Given the description of an element on the screen output the (x, y) to click on. 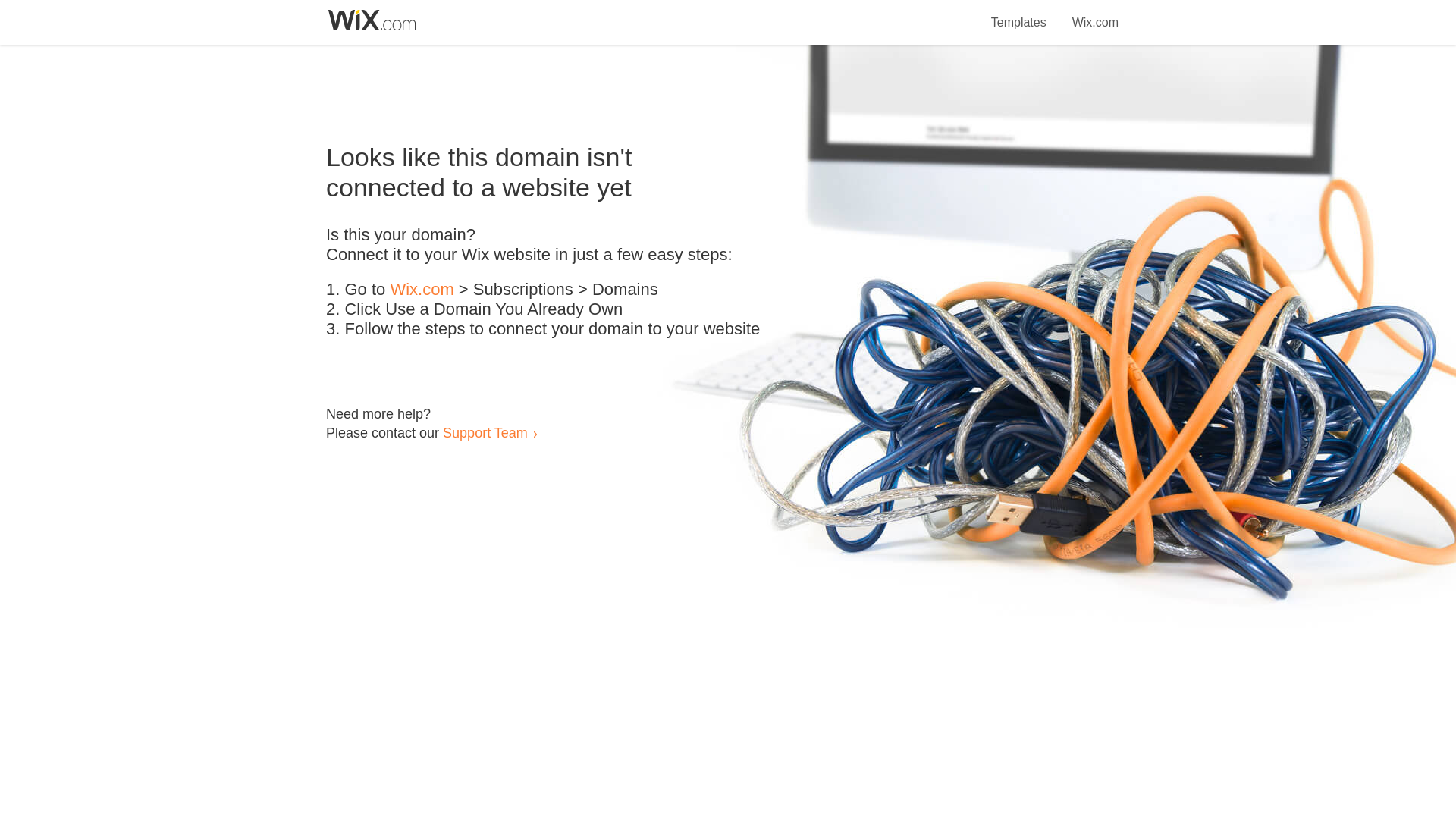
Templates (1018, 14)
Wix.com (421, 289)
Support Team (484, 432)
Wix.com (1095, 14)
